Given the description of an element on the screen output the (x, y) to click on. 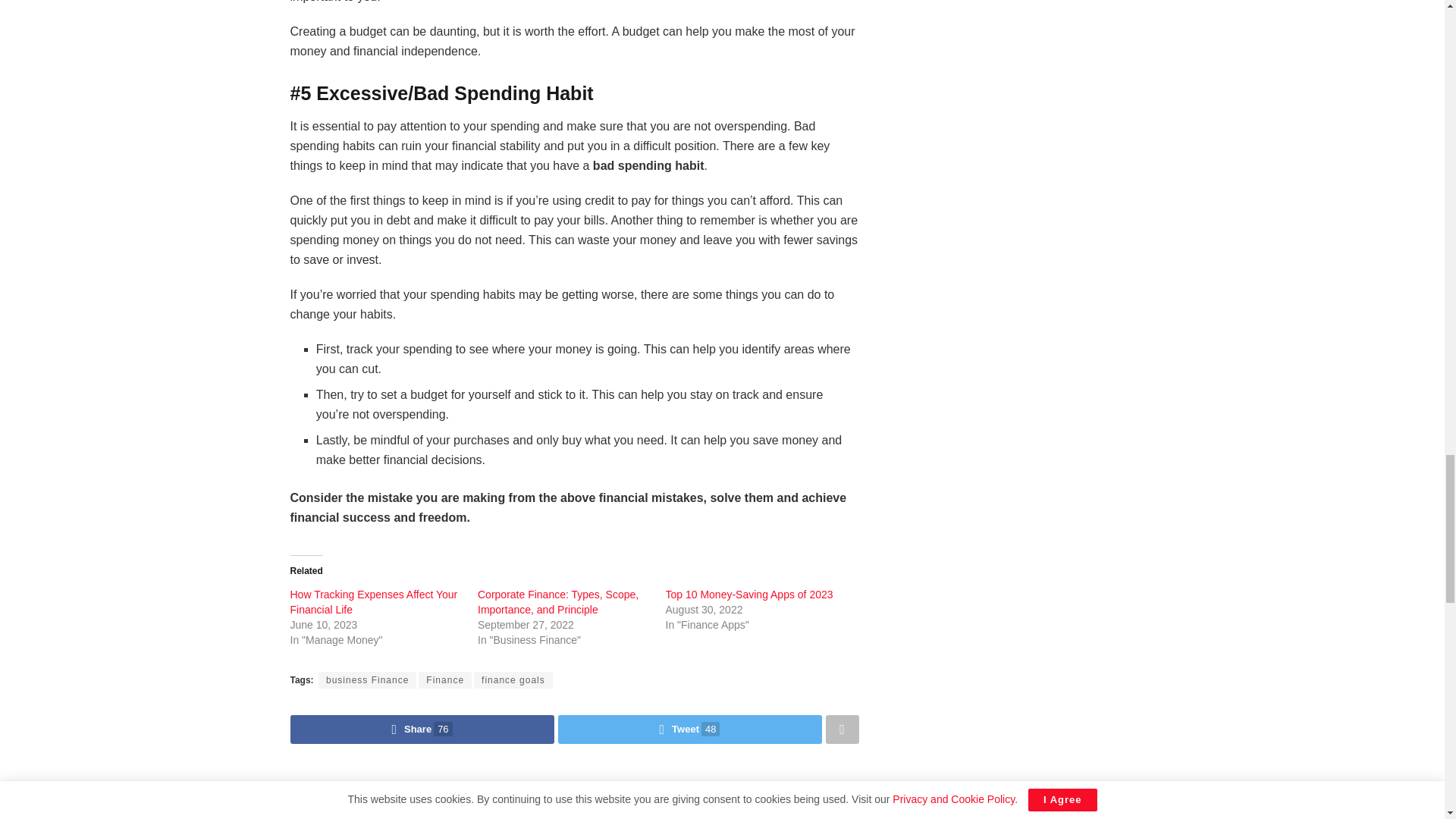
Corporate Finance: Types, Scope, Importance, and Principle (558, 601)
How Tracking Expenses Affect Your Financial Life (373, 601)
Top 10 Money-Saving Apps of 2023 (748, 594)
